Given the description of an element on the screen output the (x, y) to click on. 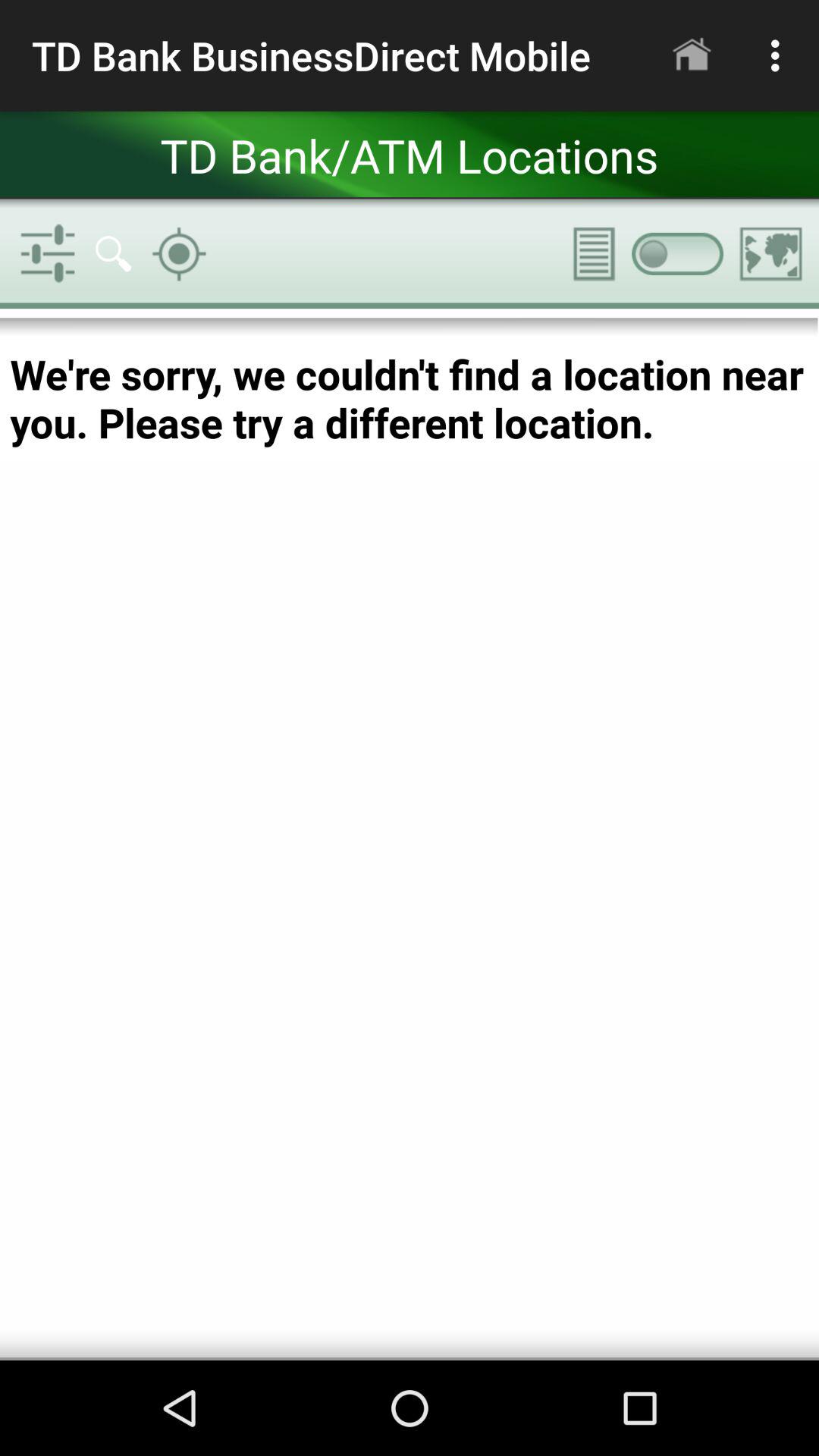
tap the item next to the td bank businessdirect icon (691, 55)
